Given the description of an element on the screen output the (x, y) to click on. 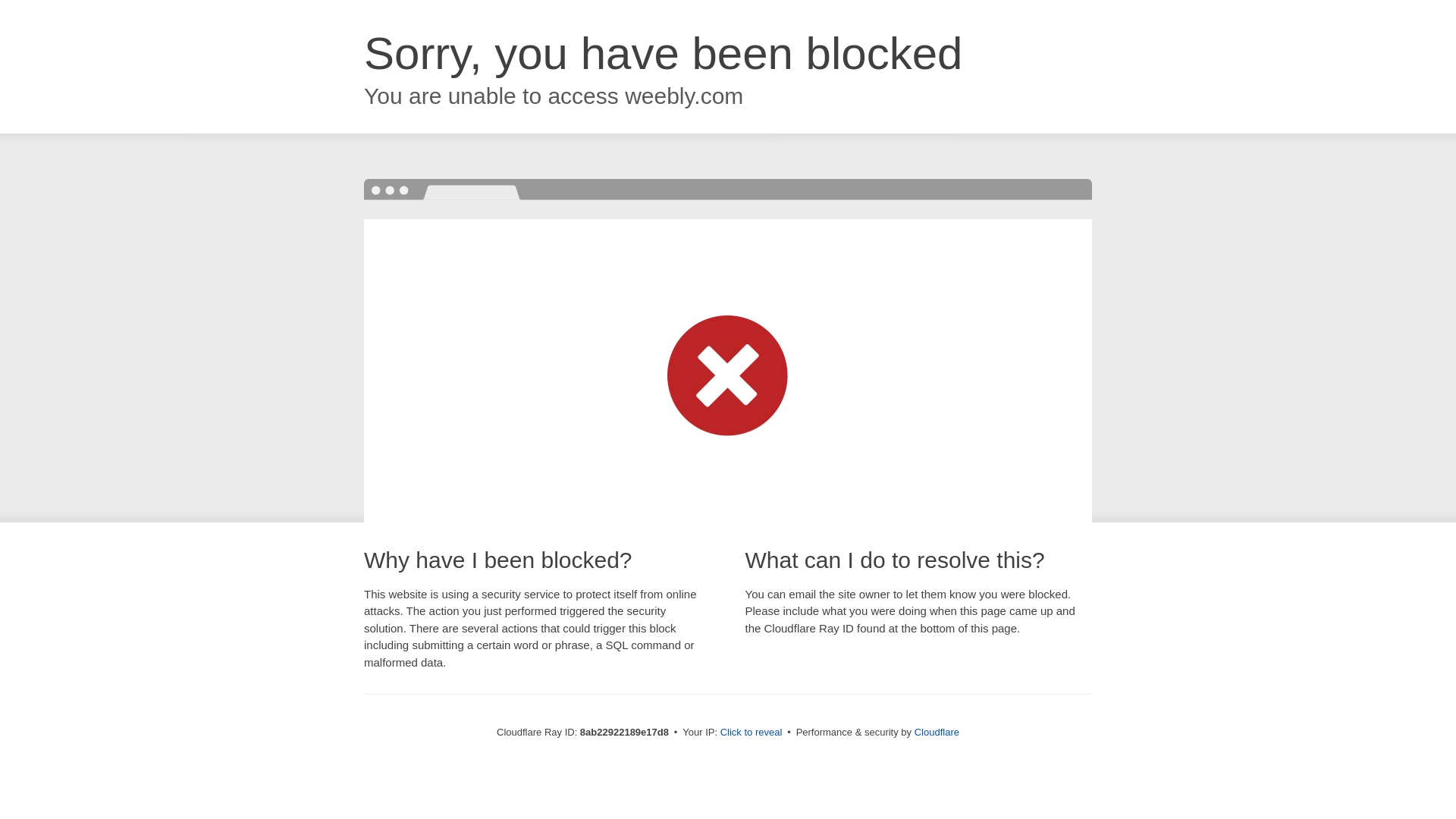
Cloudflare (936, 731)
Click to reveal (751, 732)
